Given the description of an element on the screen output the (x, y) to click on. 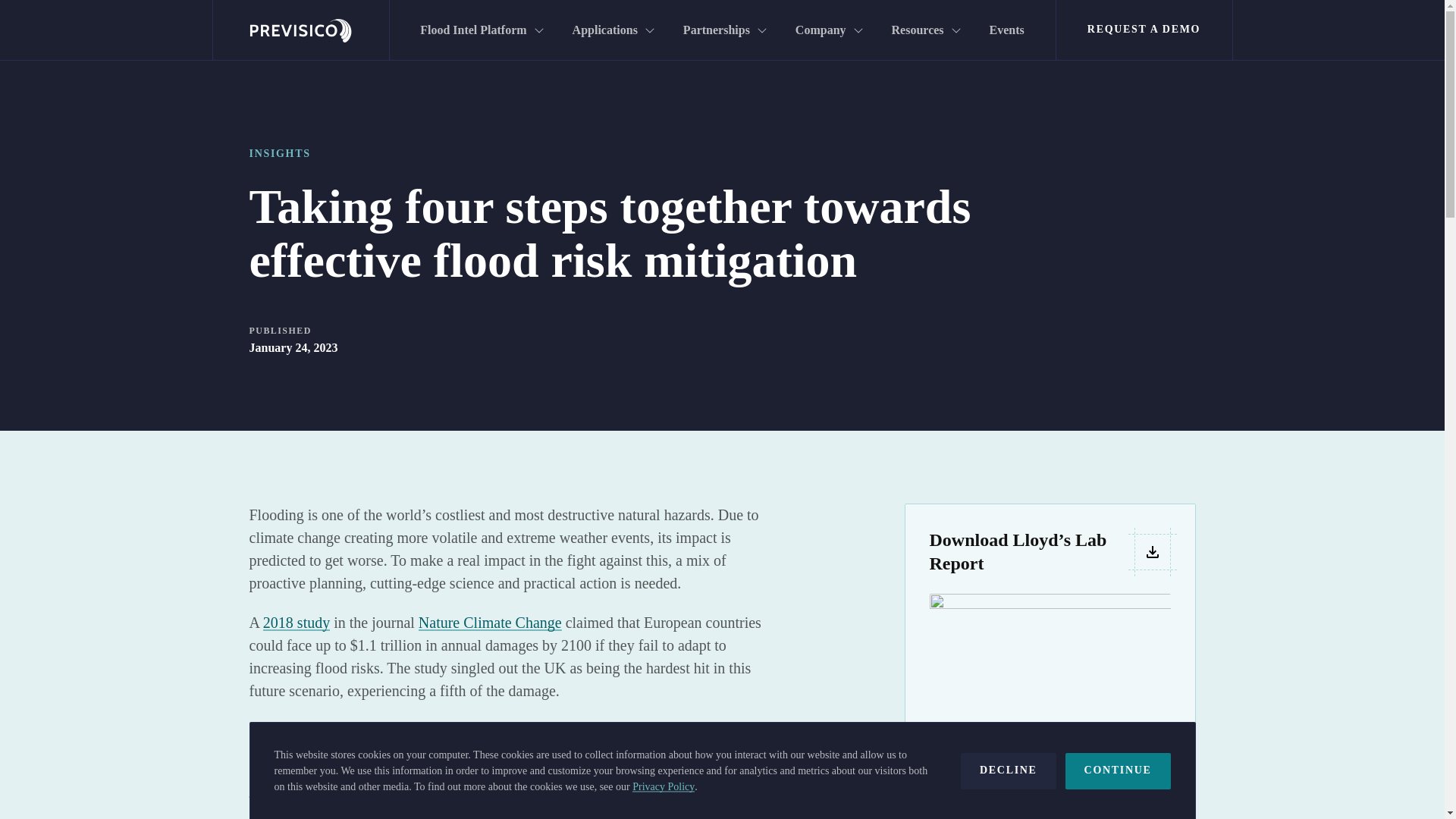
Applications (612, 29)
Partnerships (724, 29)
Privacy Policy (662, 786)
Company (828, 29)
Resources (925, 29)
CONTINUE (1117, 770)
Events (1006, 29)
DECLINE (1008, 770)
Flood Intel Platform (480, 29)
REQUEST A DEMO (1144, 29)
